Given the description of an element on the screen output the (x, y) to click on. 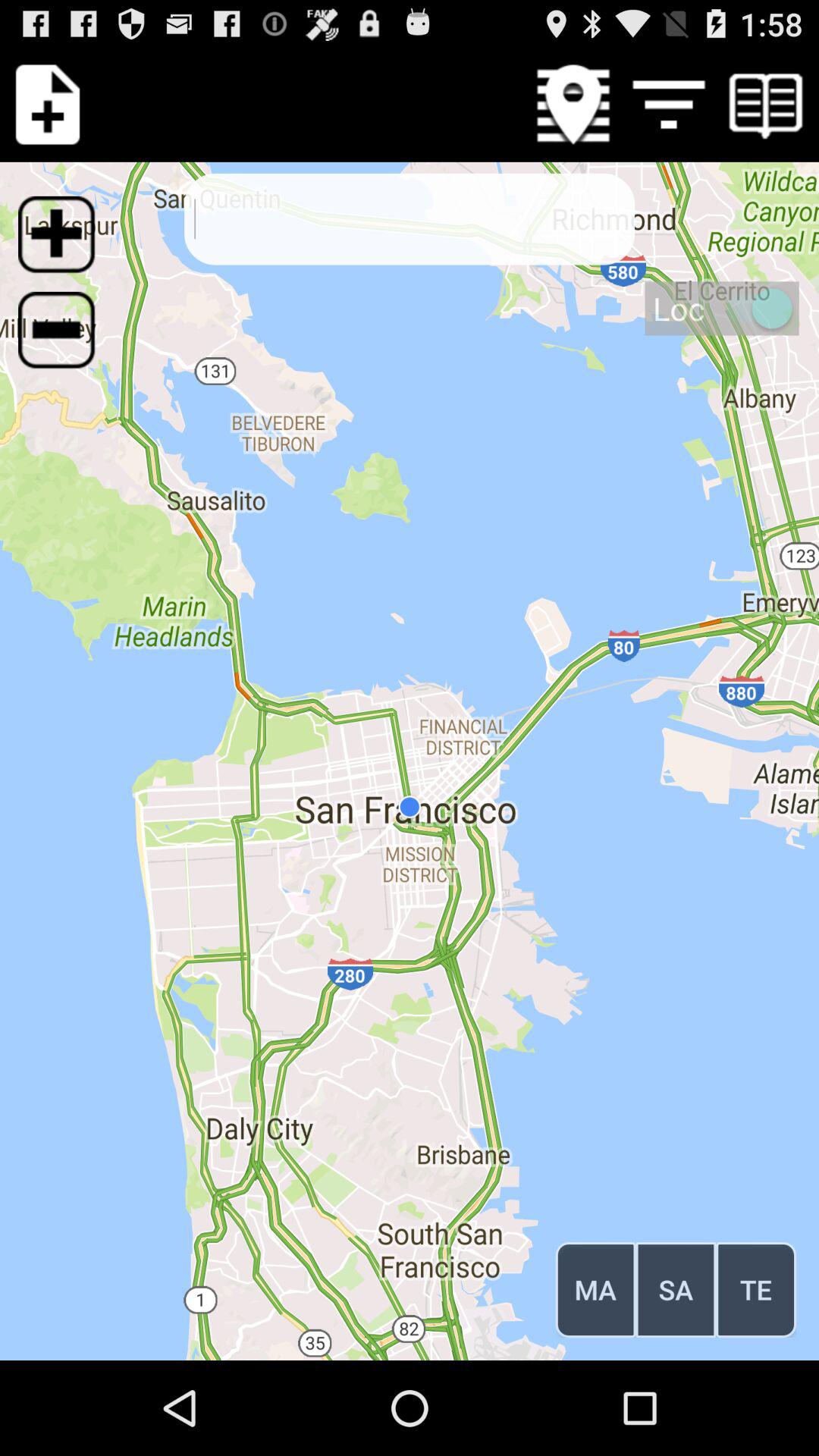
scroll until ma (595, 1289)
